Given the description of an element on the screen output the (x, y) to click on. 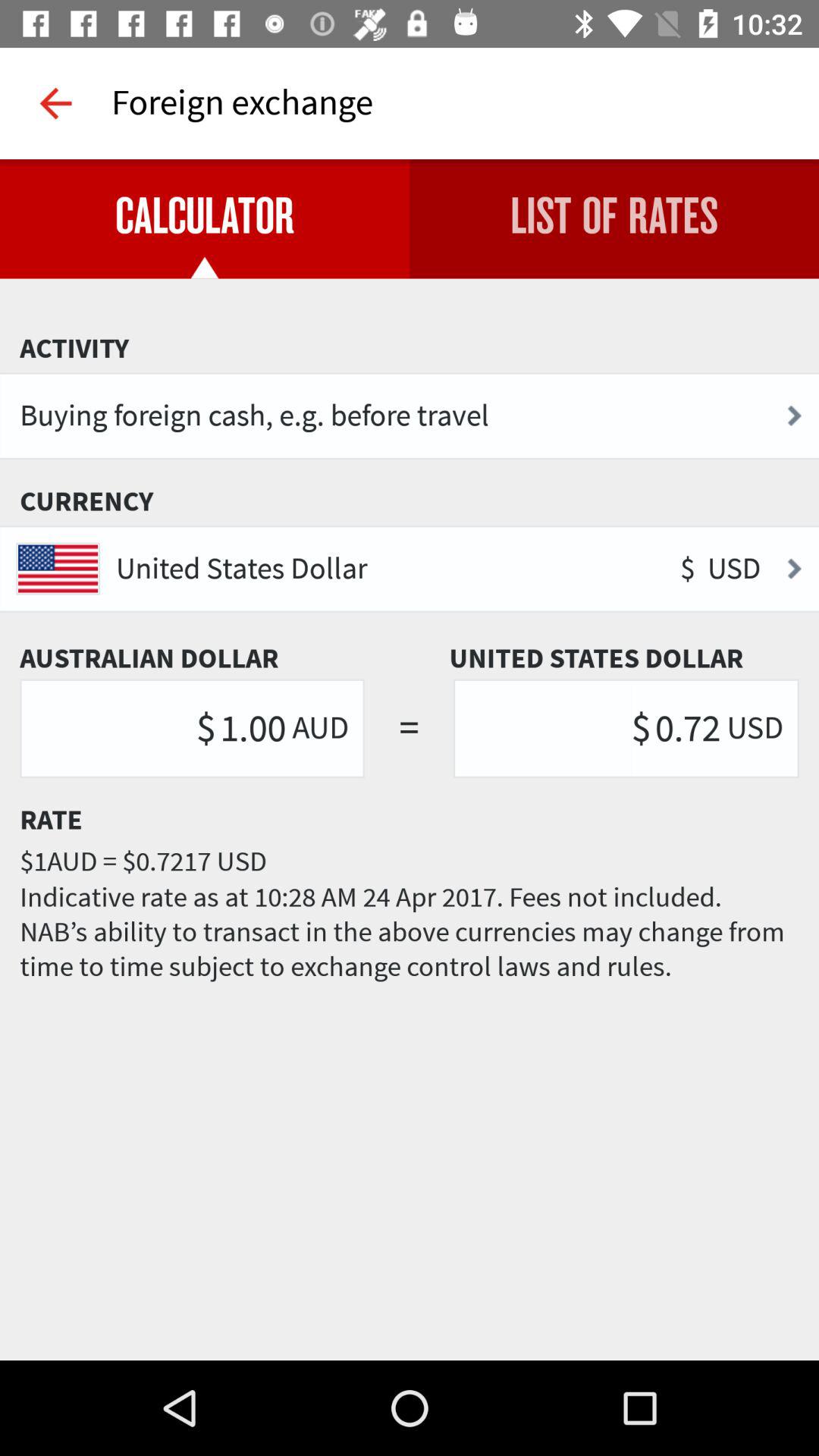
turn off the item above the calculator (55, 103)
